Given the description of an element on the screen output the (x, y) to click on. 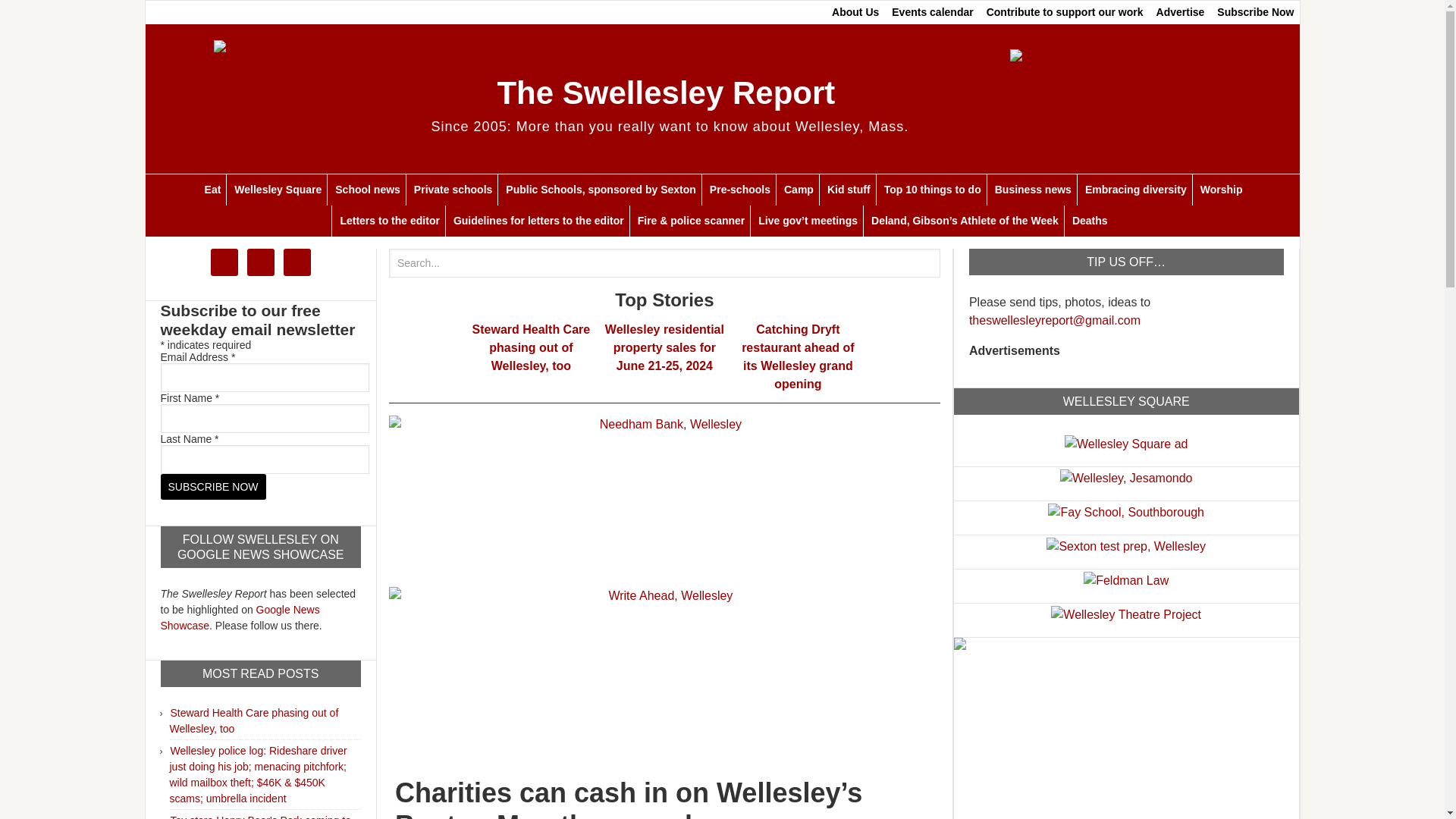
Embracing diversity (1135, 189)
Worship (1221, 189)
Steward Health Care phasing out of Wellesley, too (254, 720)
About Us (855, 12)
Deaths (1089, 220)
Top 10 things to do (932, 189)
Pre-schools (739, 189)
The Swellesley Report (665, 92)
Private schools (453, 189)
Kid stuff (847, 189)
Steward Health Care phasing out of Wellesley, too (531, 347)
Wellesley Square (1126, 440)
Subscribe Now (213, 486)
Contribute to support our work (1064, 12)
